Given the description of an element on the screen output the (x, y) to click on. 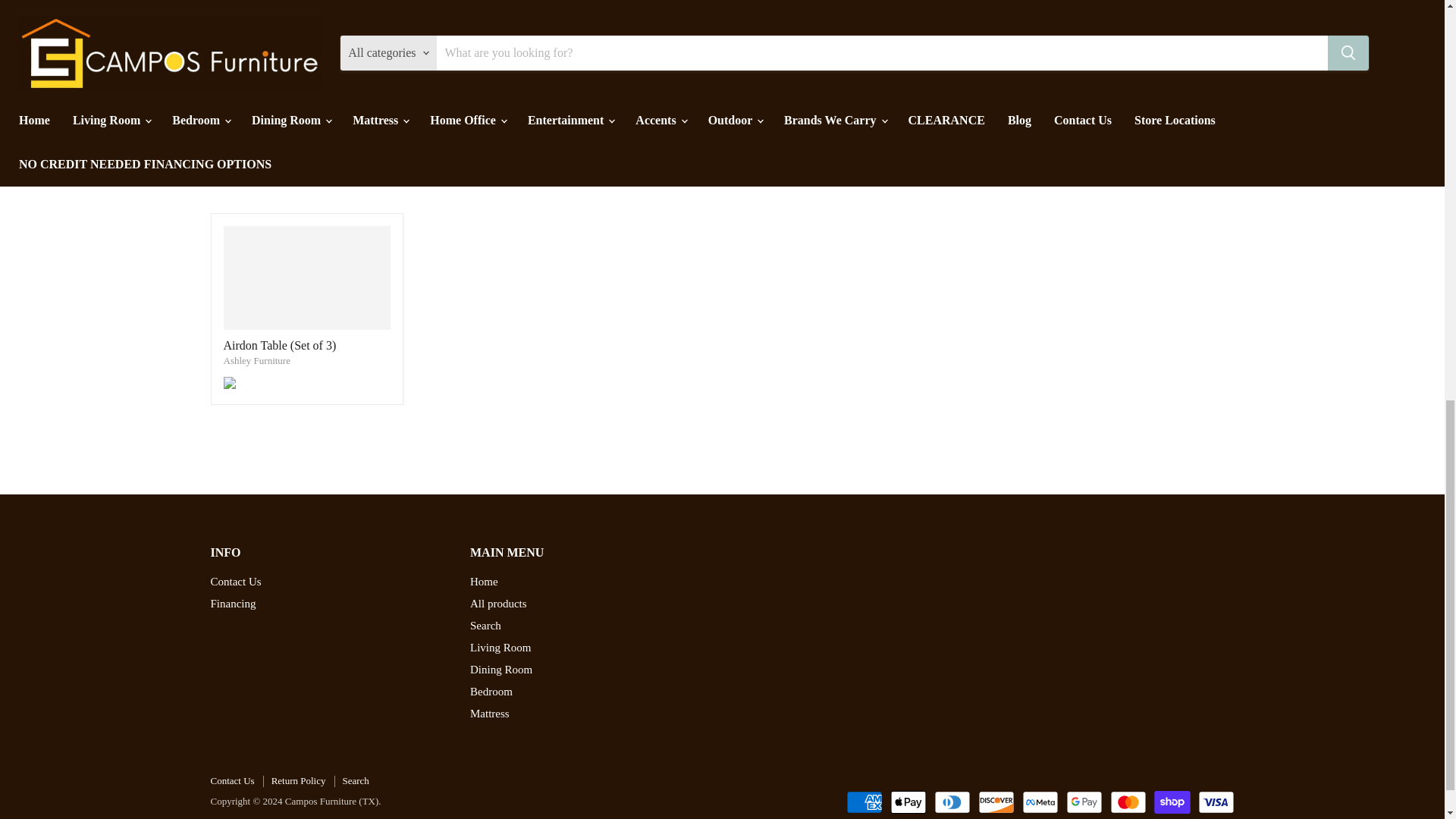
American Express (863, 802)
Ashley Furniture (255, 360)
Diners Club (952, 802)
Apple Pay (907, 802)
